Given the description of an element on the screen output the (x, y) to click on. 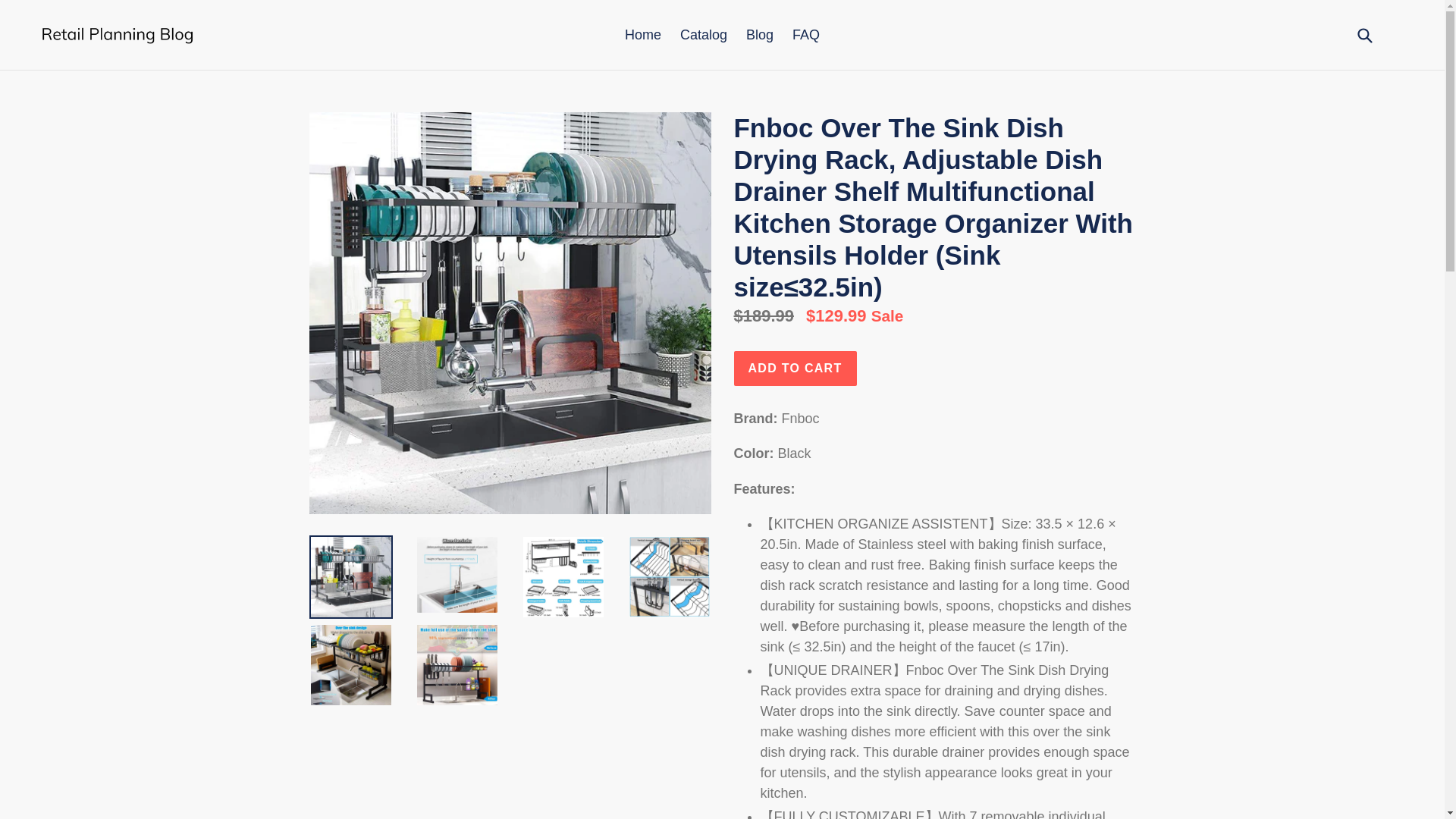
FAQ (805, 34)
Catalog (703, 34)
Submit (1364, 34)
Home (642, 34)
Blog (759, 34)
ADD TO CART (795, 368)
